Given the description of an element on the screen output the (x, y) to click on. 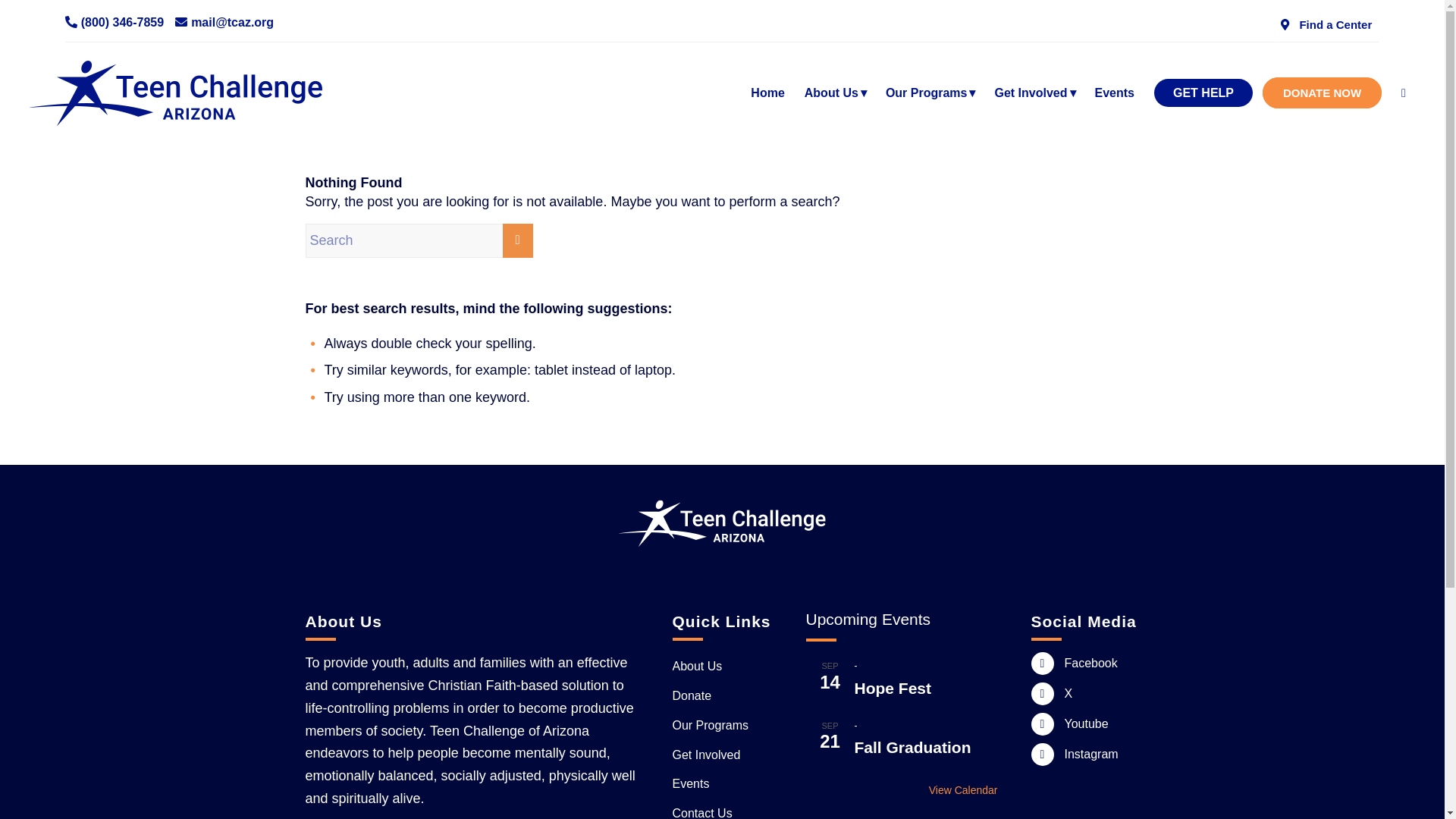
Our Programs (926, 92)
Click to start search (517, 240)
Fall Graduation (912, 747)
Facebook (1042, 662)
Youtube (1042, 723)
Get Involved (1030, 92)
logo-2020 (189, 92)
Hope Fest (892, 688)
Instagram (1042, 753)
View more events. (901, 790)
X (1042, 693)
 Find a Center (1320, 24)
